Given the description of an element on the screen output the (x, y) to click on. 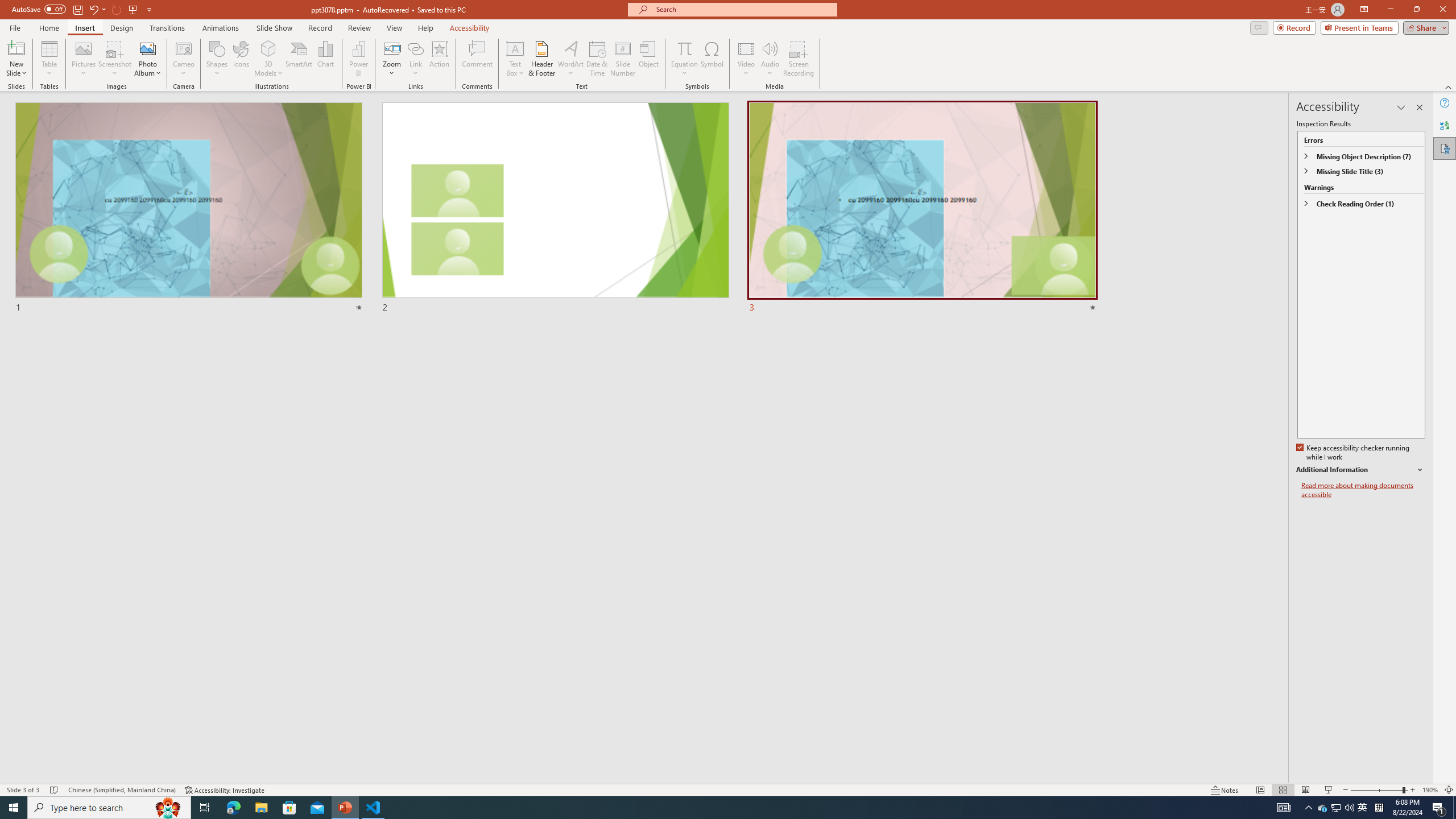
SmartArt... (298, 58)
Table (49, 58)
Pictures (83, 58)
3D Models (268, 58)
Screen Recording... (798, 58)
